Given the description of an element on the screen output the (x, y) to click on. 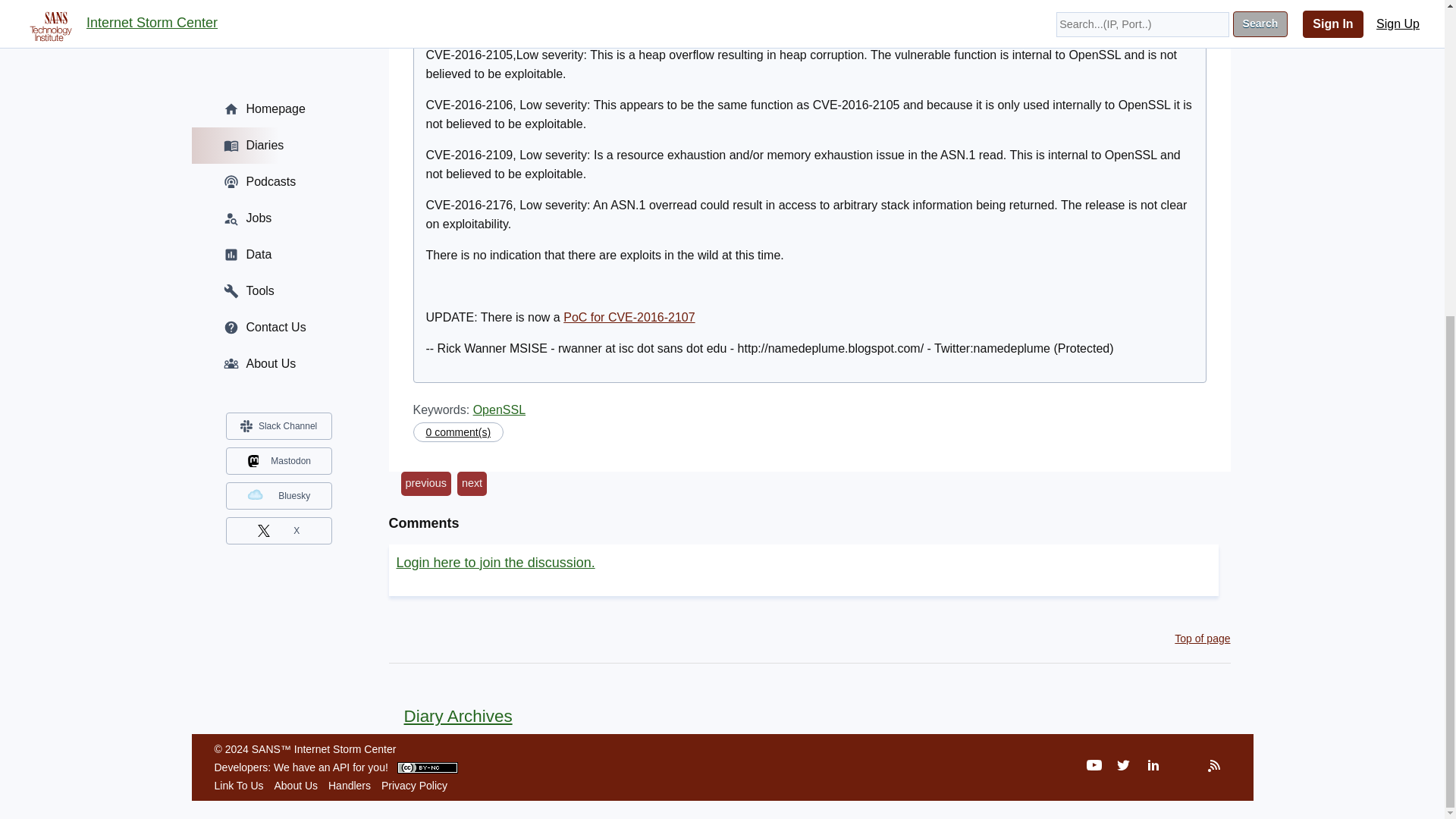
next (471, 483)
PoC for CVE-2016-2107 (628, 317)
Login here to join the discussion. (495, 562)
OpenSSL (499, 409)
previous (424, 483)
Top of page (1202, 638)
Diary Archives (450, 715)
